Given the description of an element on the screen output the (x, y) to click on. 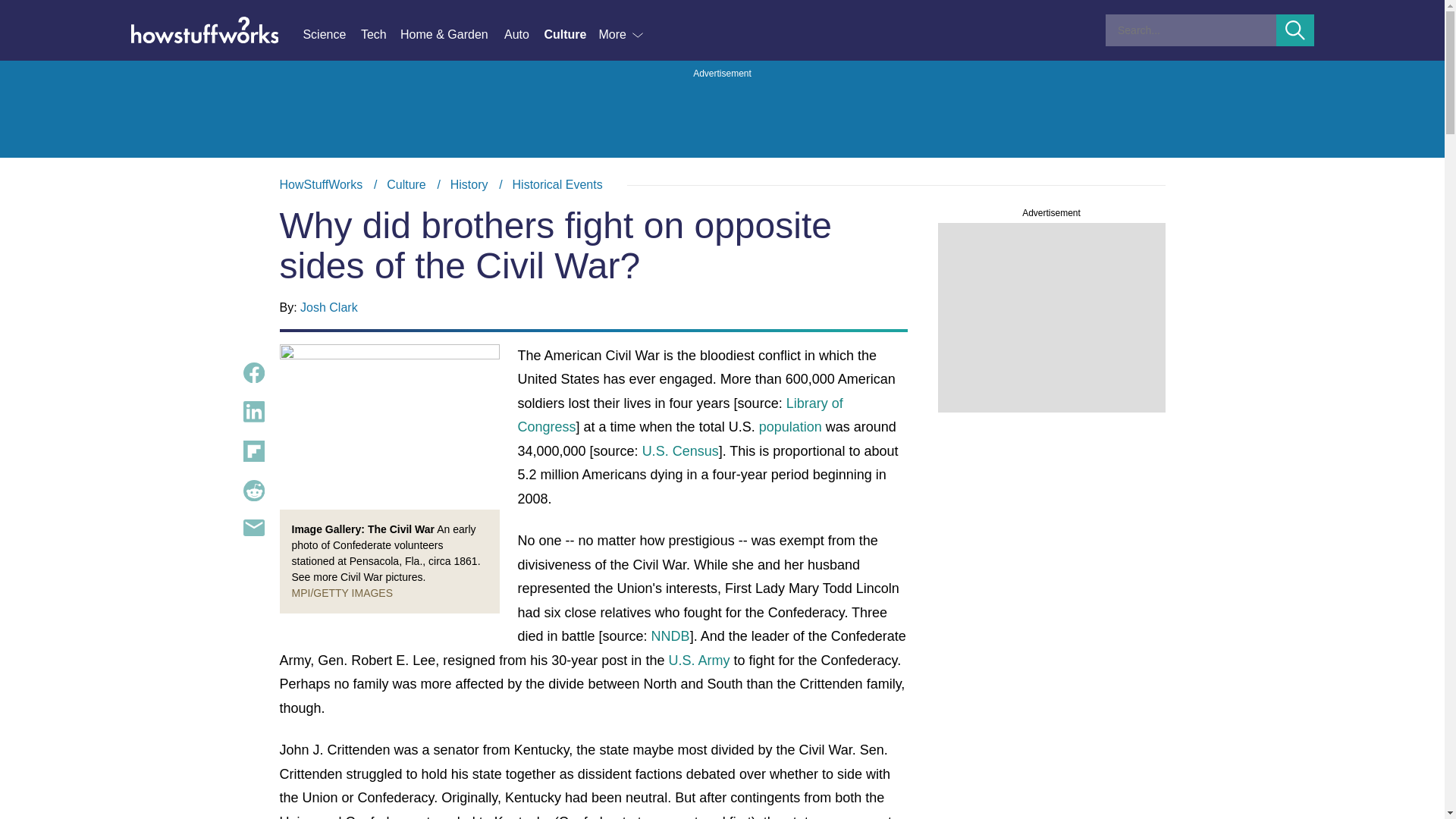
Share Content on Flipboard (253, 450)
Submit Search (721, 185)
More (1295, 29)
Josh Clark (621, 34)
History (328, 307)
Culture (468, 184)
Share Content on Reddit (406, 184)
Auto (253, 490)
Tech (523, 34)
